Given the description of an element on the screen output the (x, y) to click on. 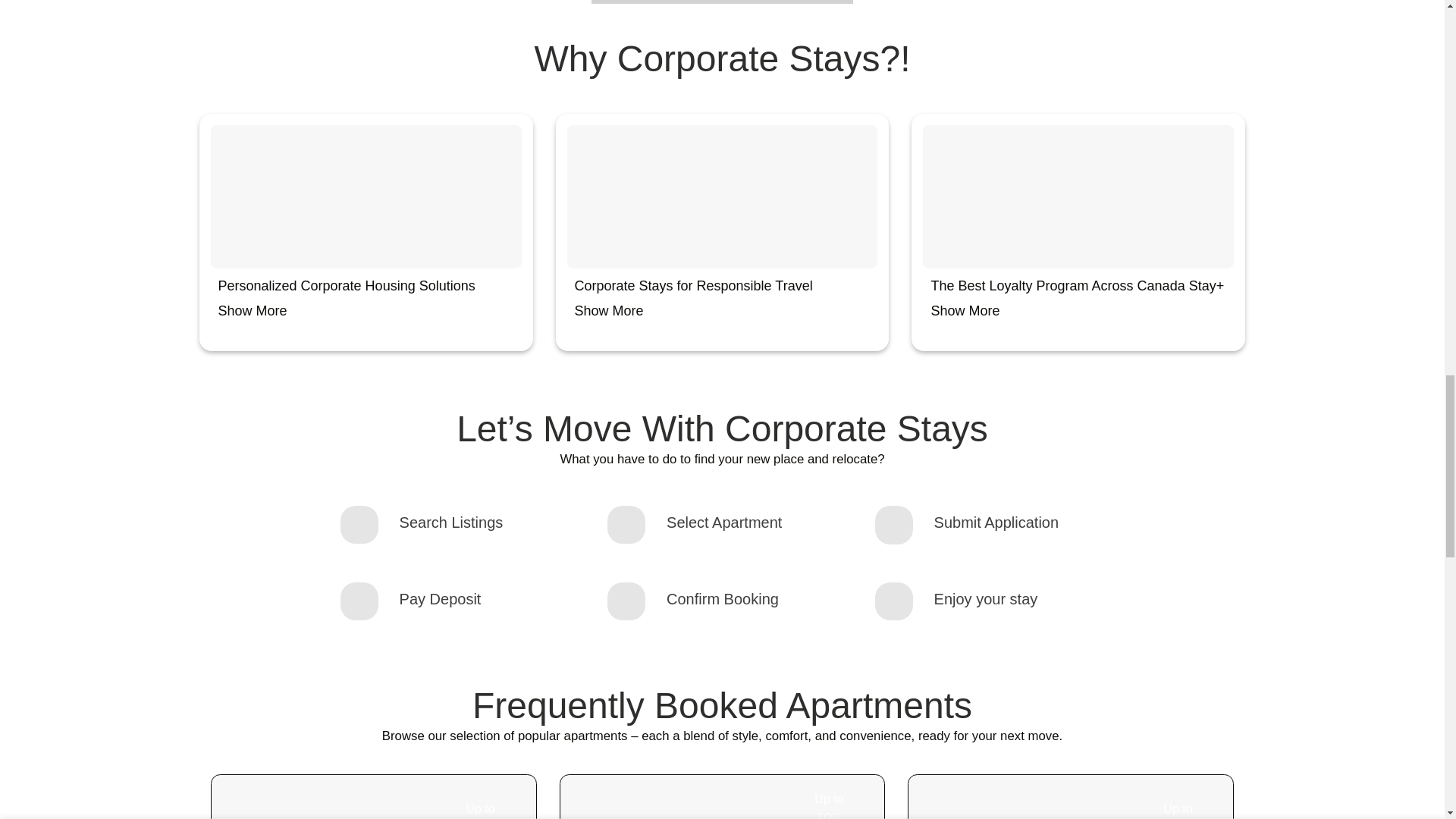
Show More (252, 311)
Show More (964, 311)
Show More (609, 311)
